Given the description of an element on the screen output the (x, y) to click on. 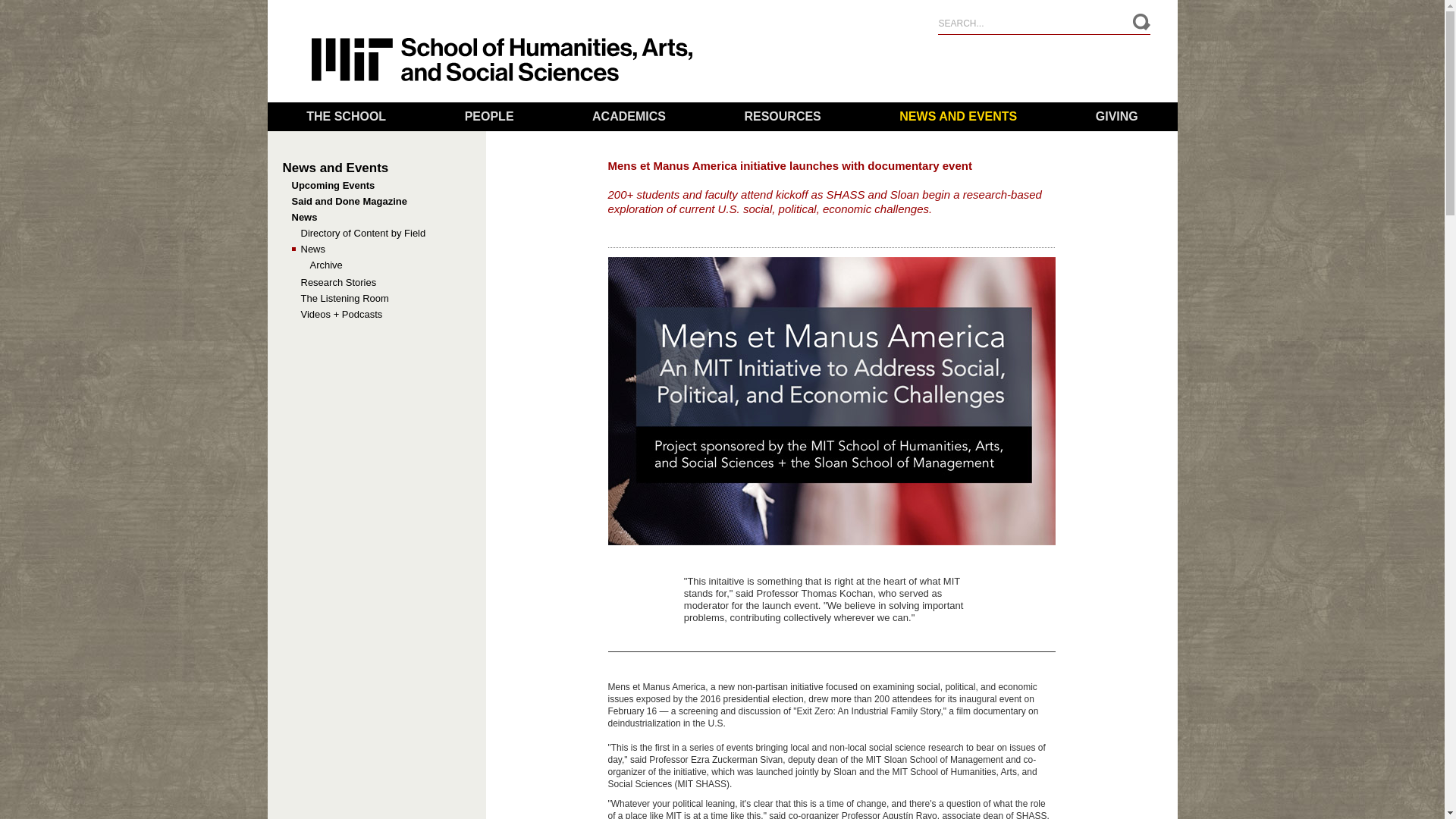
Go (1141, 22)
SHASS home (501, 77)
PEOPLE (489, 116)
Enter the terms you wish to search for. (1043, 21)
THE SCHOOL (345, 116)
Go (1141, 22)
